Given the description of an element on the screen output the (x, y) to click on. 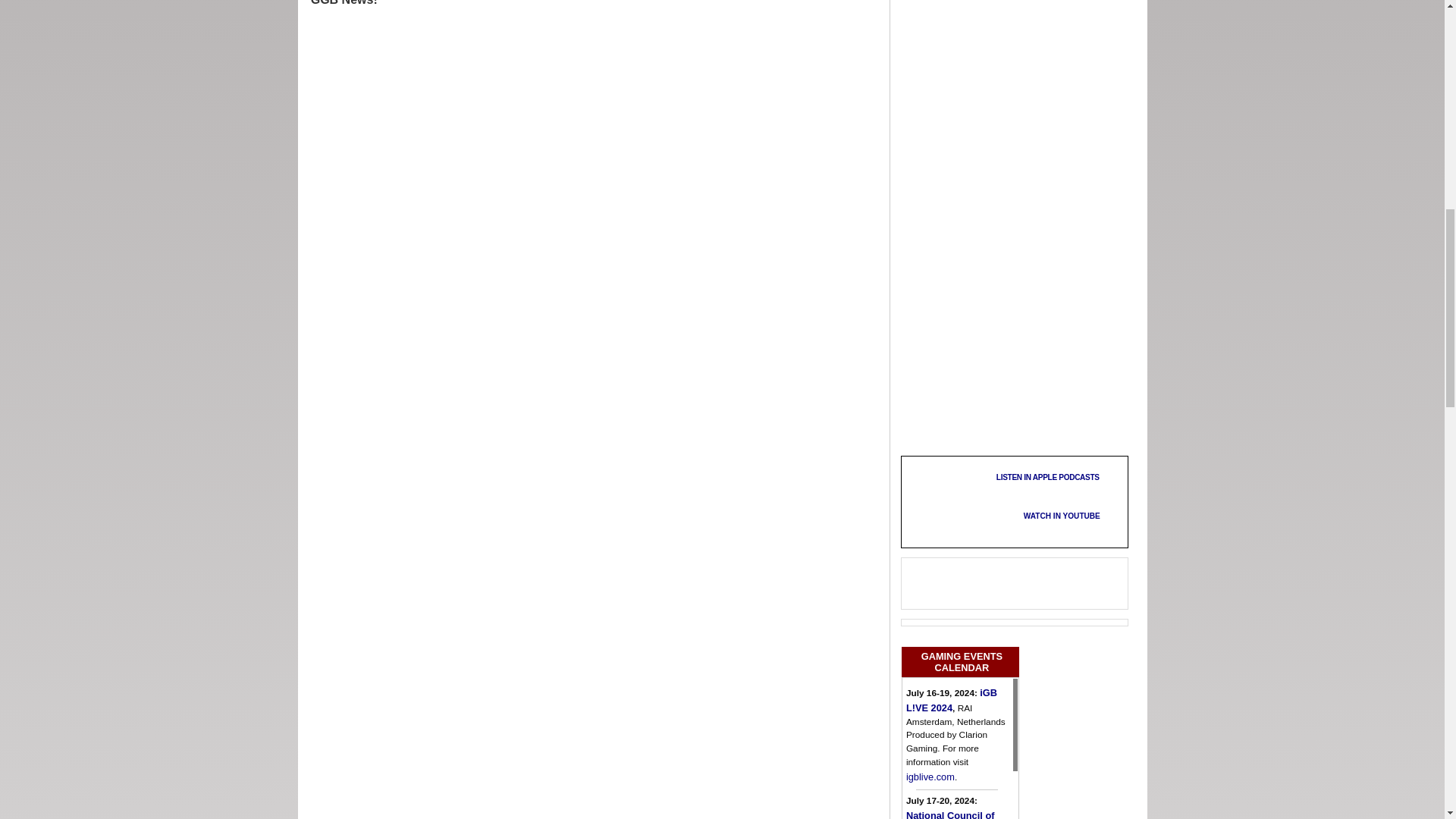
GGB Podcasts (944, 498)
View in GGB Podcast YouTube Channel (1047, 515)
GGB Magazine Podcasts on Spotify (1057, 497)
GGB Magazine Podcasts in iTunes (1057, 476)
iGB L!VE 2024 (930, 776)
Form (470, 70)
Emerging Leaders of Gaming Nominations (1013, 594)
WATCH IN YOUTUBE (1047, 515)
igblive.com (930, 776)
iGB L!VE 2024 (951, 700)
LISTEN IN APPLE PODCASTS (1057, 476)
iGB L!VE 2024 (951, 700)
National Council of Legislators from Gaming States (949, 814)
GAMING EVENTS CALENDAR (960, 661)
